Given the description of an element on the screen output the (x, y) to click on. 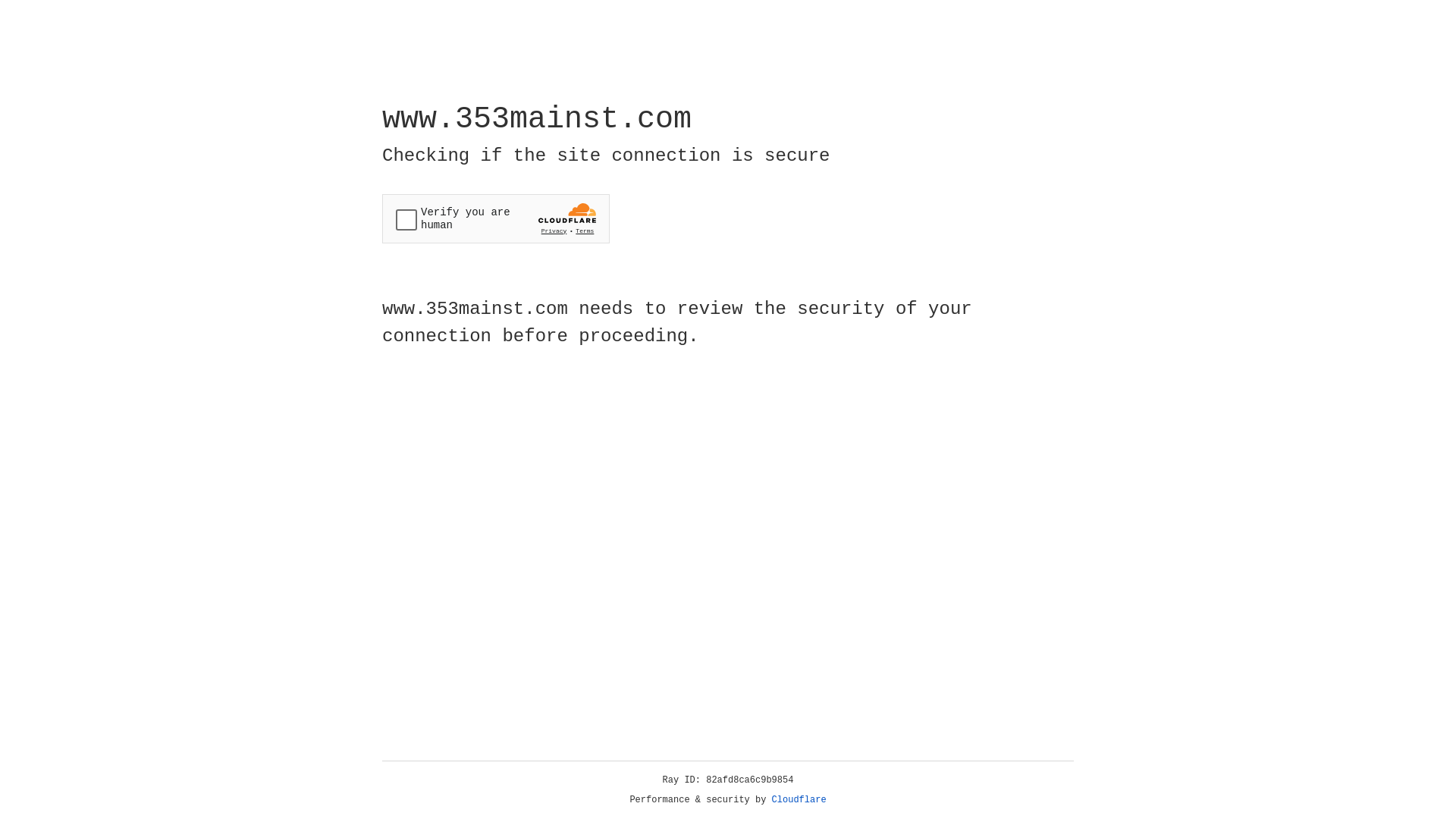
Cloudflare Element type: text (798, 799)
Widget containing a Cloudflare security challenge Element type: hover (495, 218)
